Given the description of an element on the screen output the (x, y) to click on. 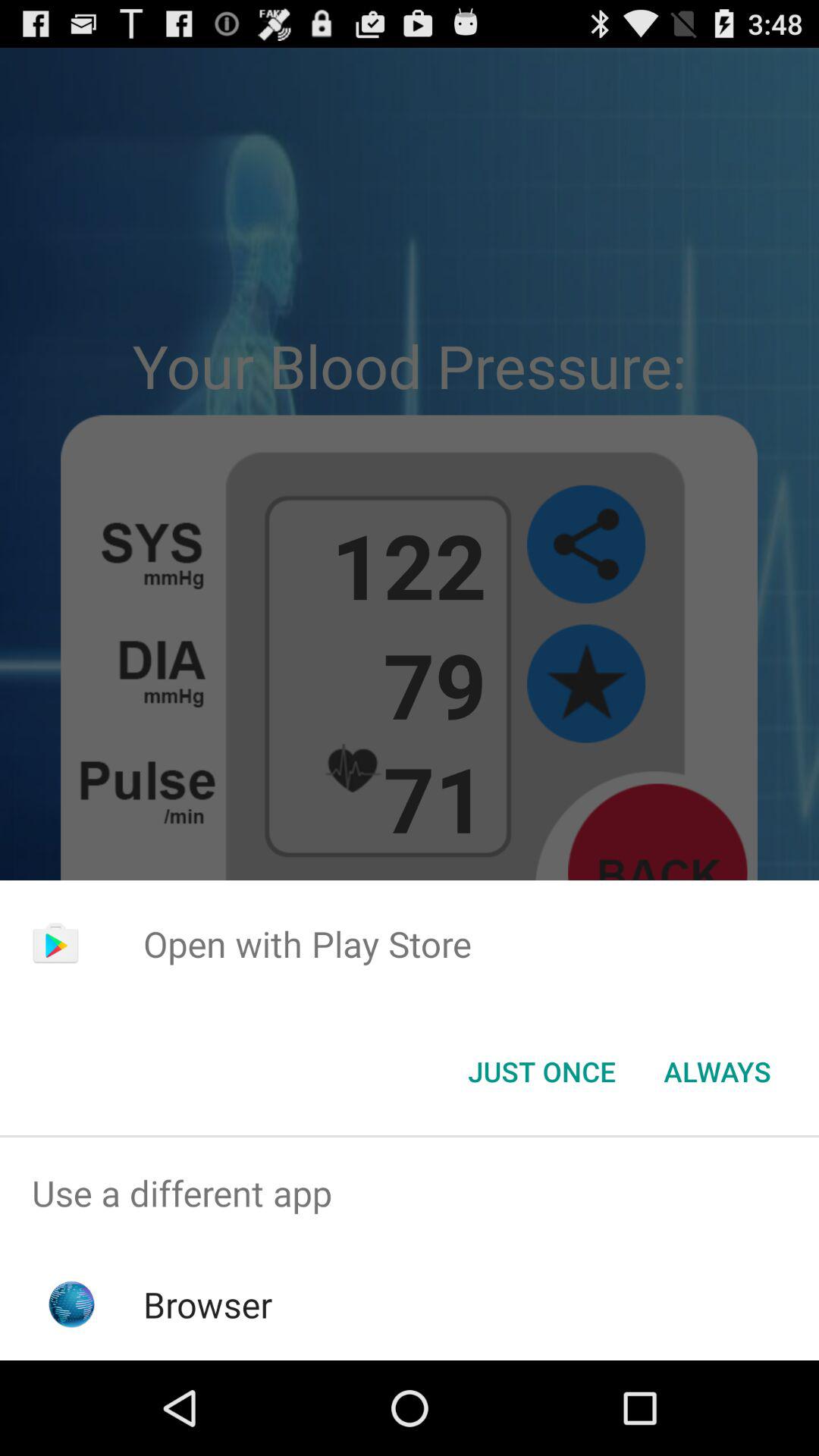
tap browser app (207, 1304)
